Given the description of an element on the screen output the (x, y) to click on. 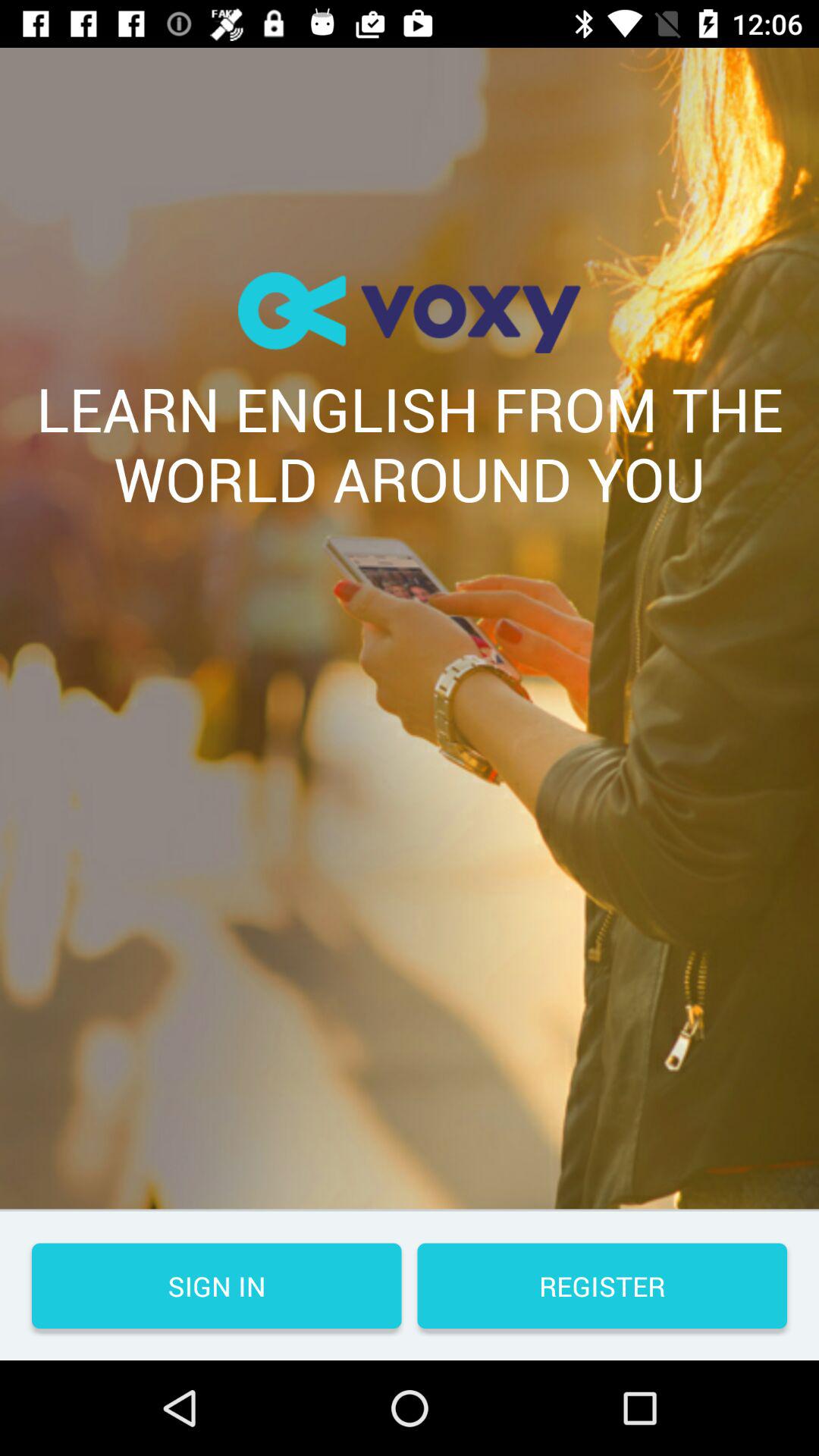
turn on the sign in icon (216, 1285)
